Given the description of an element on the screen output the (x, y) to click on. 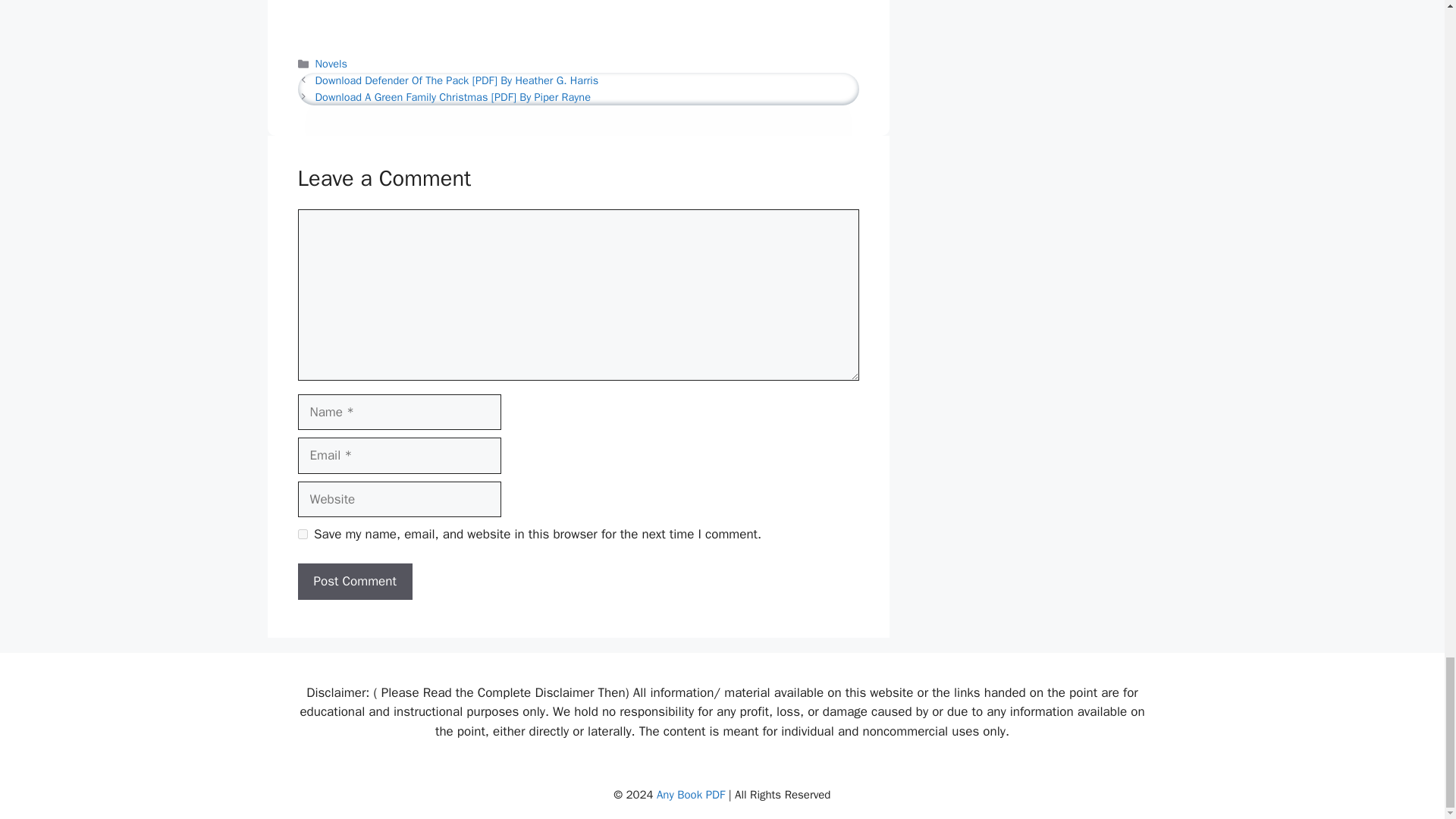
yes (302, 533)
Post Comment (354, 581)
